Given the description of an element on the screen output the (x, y) to click on. 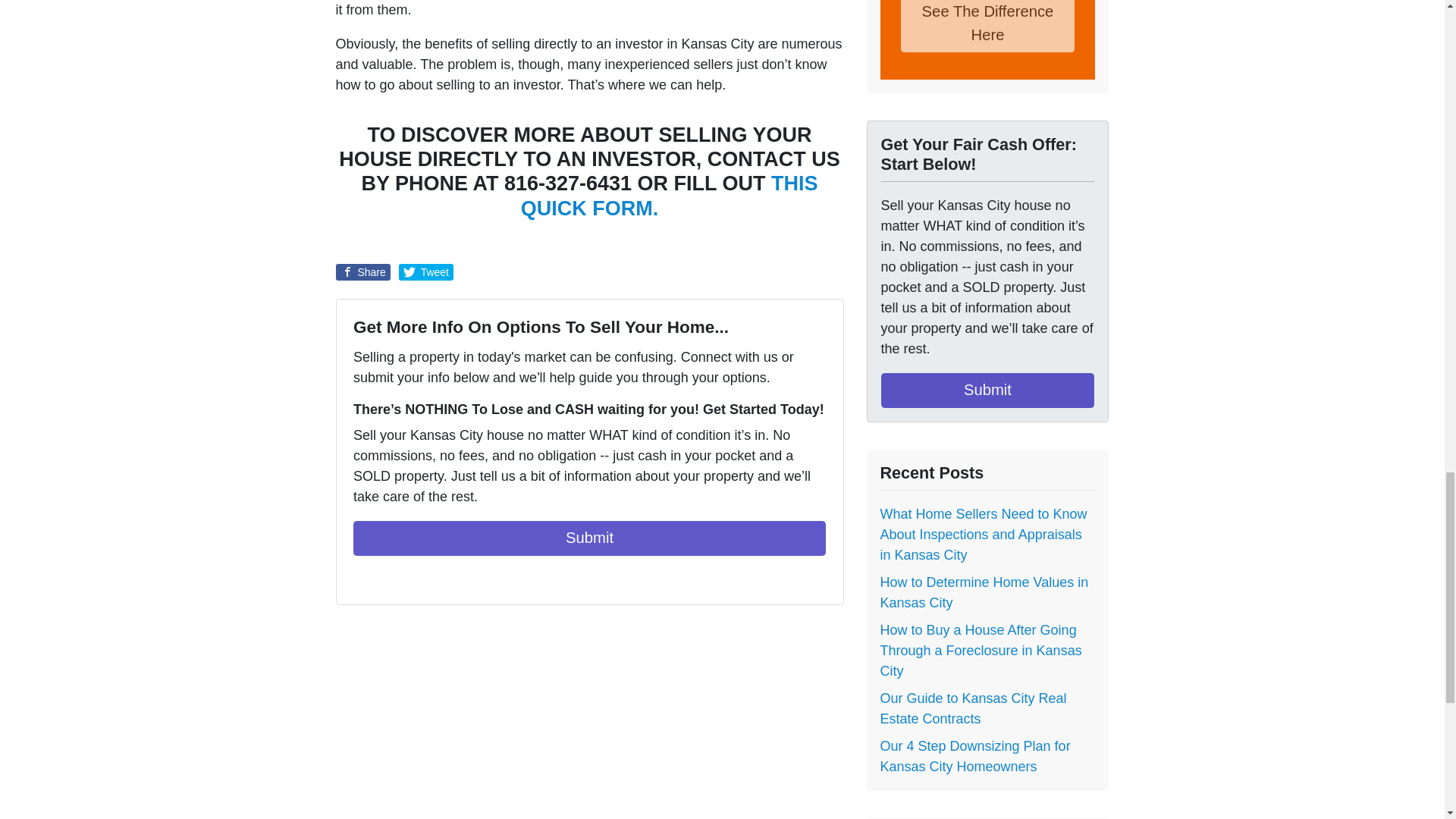
Share (362, 271)
Submit (987, 390)
YouTube (383, 578)
Submit (589, 538)
See The Difference Here (988, 26)
Submit (987, 390)
Tweet (425, 271)
How to Determine Home Values in Kansas City (983, 592)
Share on Twitter (425, 271)
Our Guide to Kansas City Real Estate Contracts (972, 708)
Facebook (362, 578)
Submit (589, 538)
Our 4 Step Downsizing Plan for Kansas City Homeowners (974, 755)
Share on Facebook (362, 271)
